Given the description of an element on the screen output the (x, y) to click on. 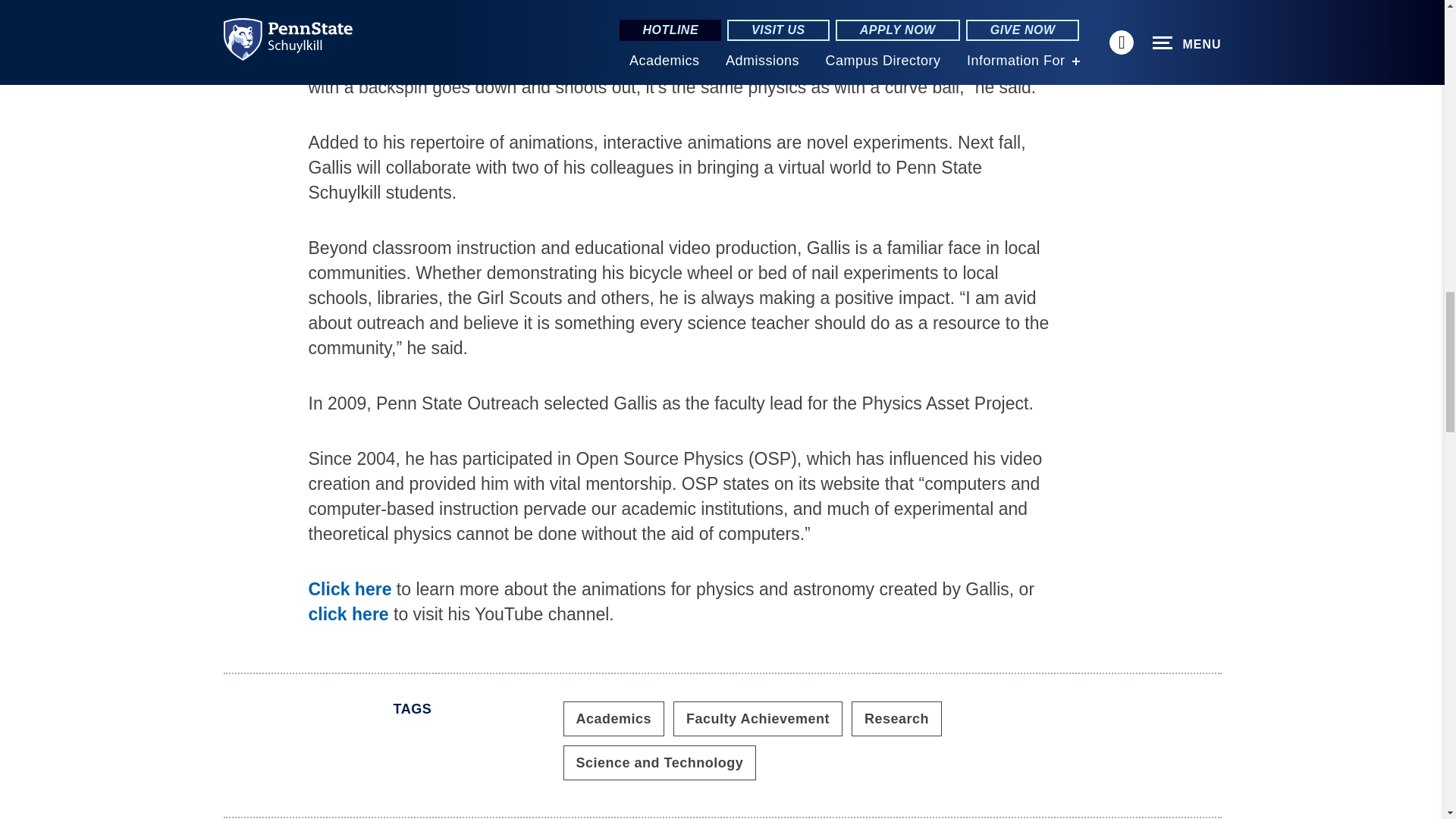
Content tagged with Faculty Achievement (757, 718)
Content tagged with Science and Technology (658, 762)
Content tagged with Research (896, 718)
Content tagged with Academics (612, 718)
